Given the description of an element on the screen output the (x, y) to click on. 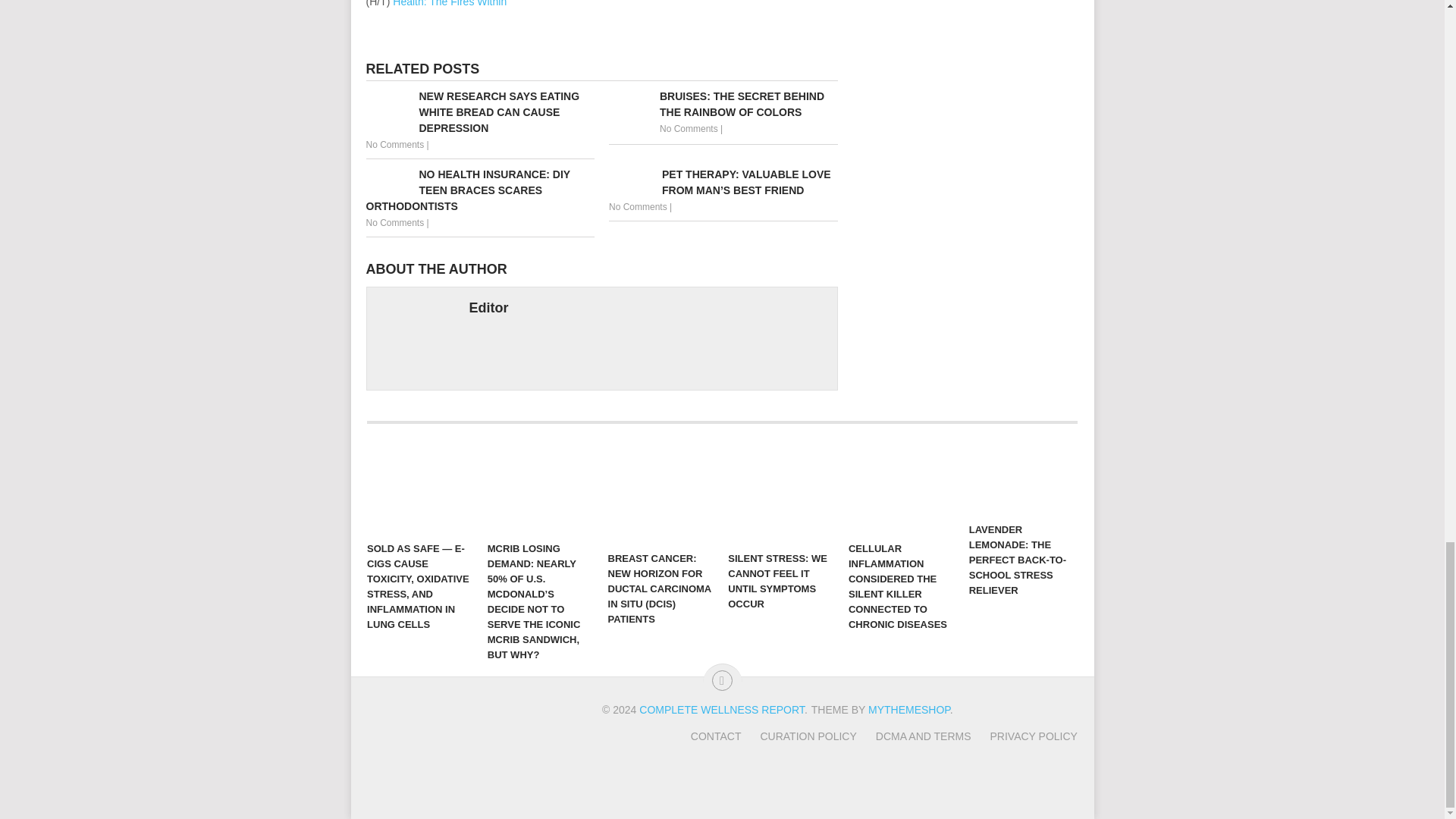
Health: The Fires Within (449, 3)
BRUISES: THE SECRET BEHIND THE RAINBOW OF COLORS (723, 104)
No Comments (394, 144)
No Health Insurance: DIY Teen Braces Scares Orthodontists (479, 190)
No Comments (394, 222)
SILENT STRESS: WE CANNOT FEEL IT UNTIL SYMPTOMS OCCUR (781, 494)
No Comments (637, 206)
Bruises: The Secret Behind The Rainbow of Colors (723, 104)
NO HEALTH INSURANCE: DIY TEEN BRACES SCARES ORTHODONTISTS (479, 190)
No Comments (688, 128)
NEW RESEARCH SAYS EATING WHITE BREAD CAN CAUSE DEPRESSION (479, 112)
New Research Says Eating White Bread Can Cause Depression (479, 112)
